Given the description of an element on the screen output the (x, y) to click on. 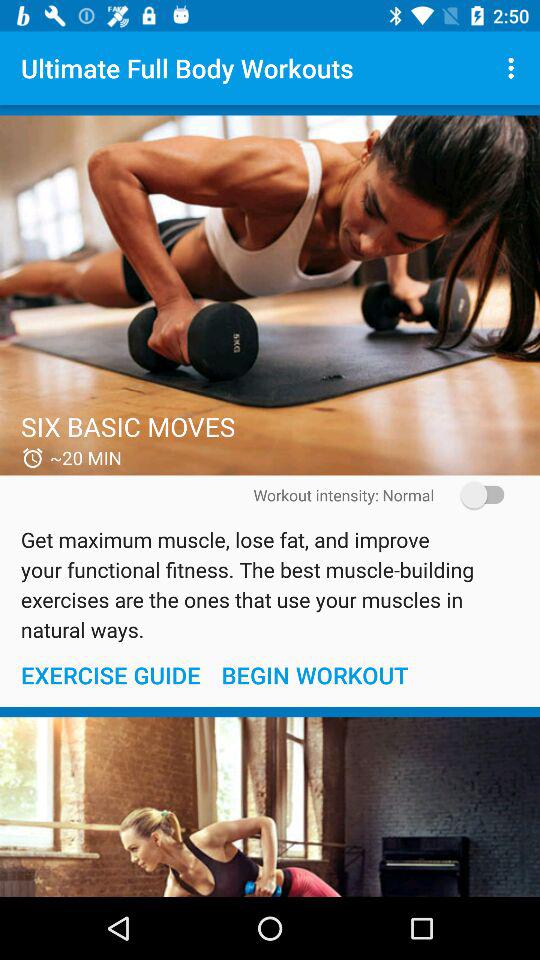
begin work out (270, 807)
